Given the description of an element on the screen output the (x, y) to click on. 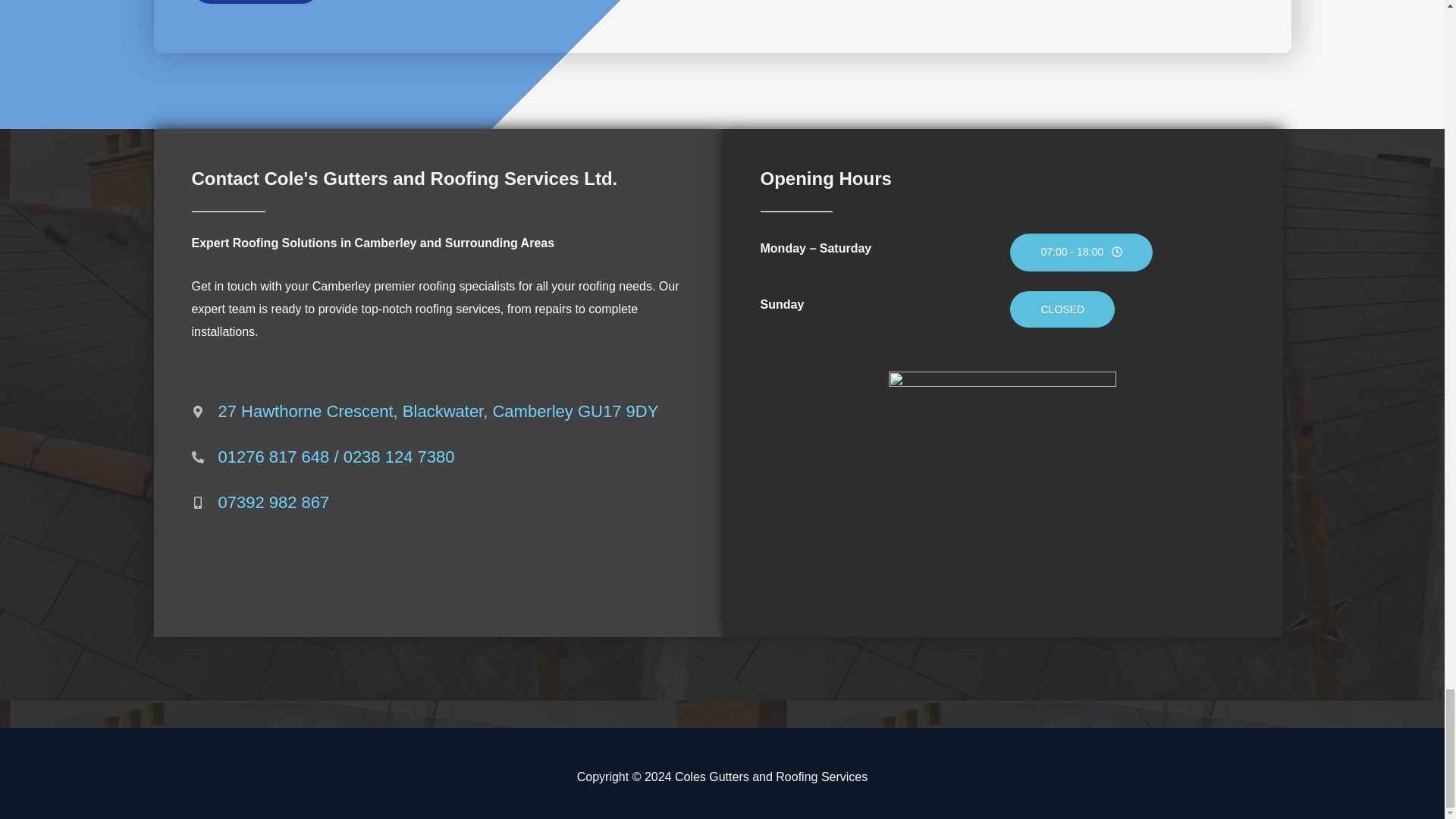
CLOSED (1062, 309)
07:00 - 18:00 (1081, 252)
CONTACT US (255, 2)
